Given the description of an element on the screen output the (x, y) to click on. 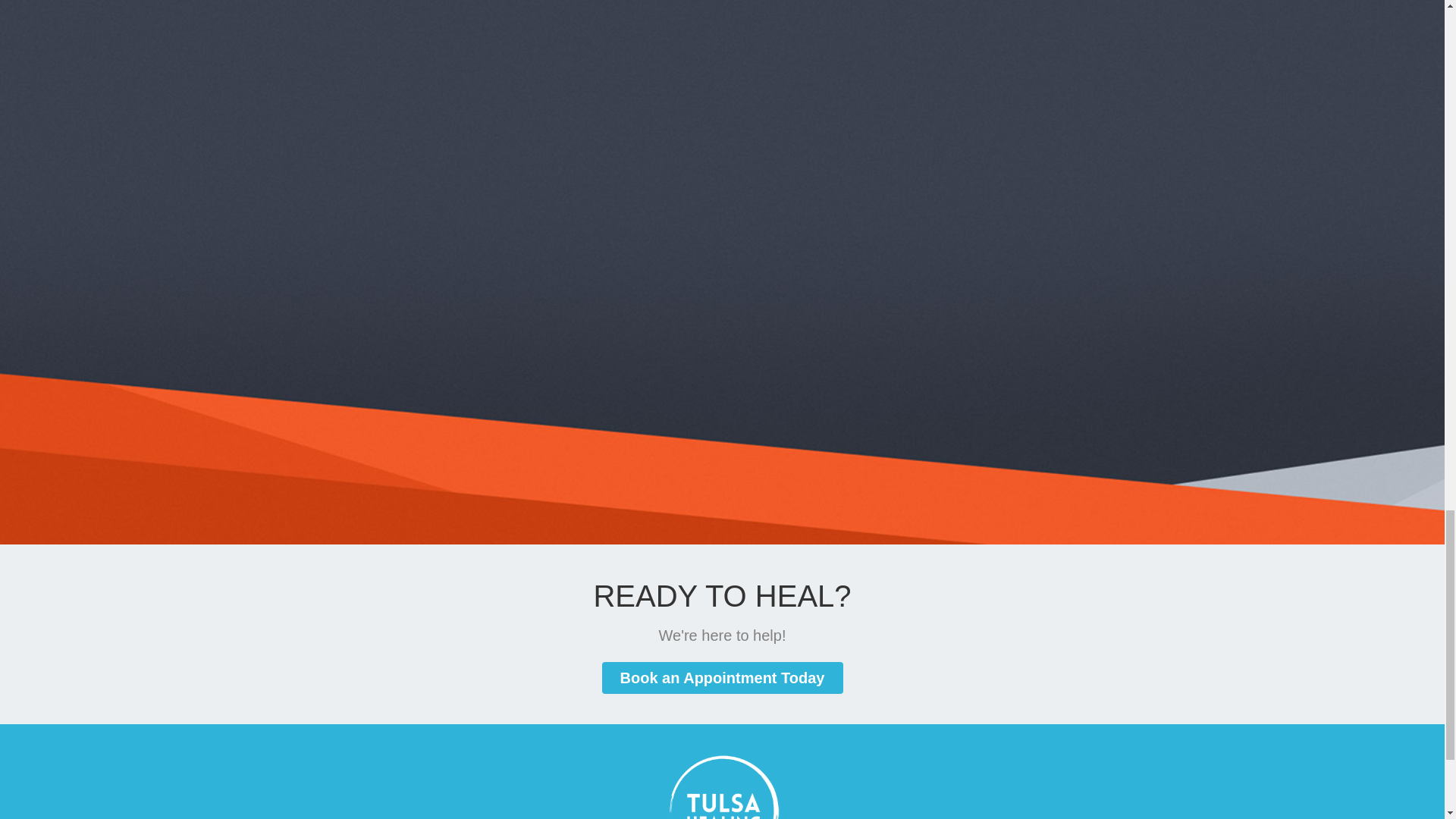
logo-white (721, 786)
READY TO HEAL? (721, 595)
Book an Appointment Today (722, 677)
